Given the description of an element on the screen output the (x, y) to click on. 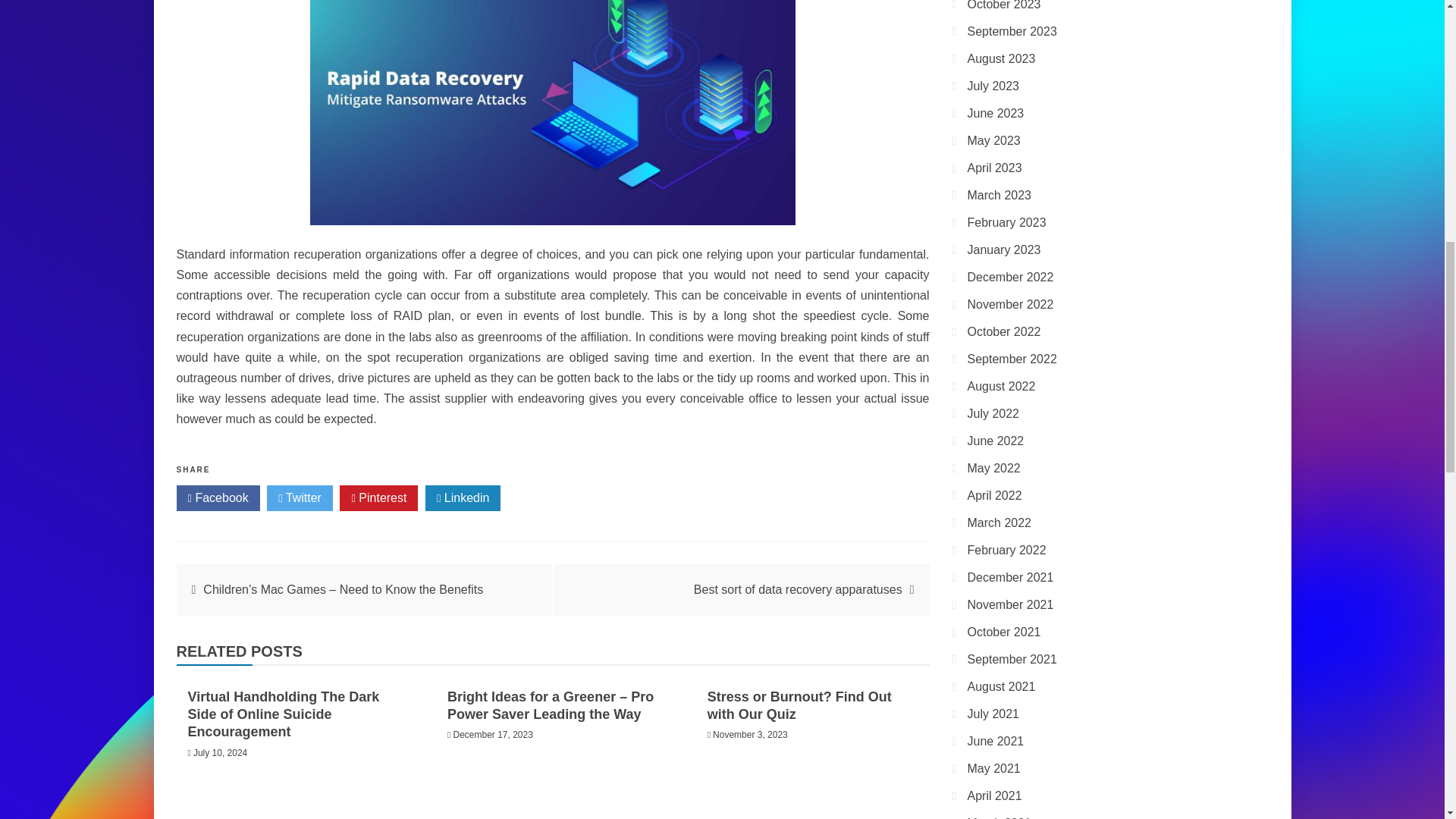
Facebook (217, 498)
December 17, 2023 (492, 734)
November 3, 2023 (750, 734)
Stress or Burnout? Find Out with Our Quiz (799, 705)
July 10, 2024 (220, 752)
Pinterest (378, 498)
Twitter (299, 498)
Linkedin (462, 498)
Best sort of data recovery apparatuses (798, 589)
